Given the description of an element on the screen output the (x, y) to click on. 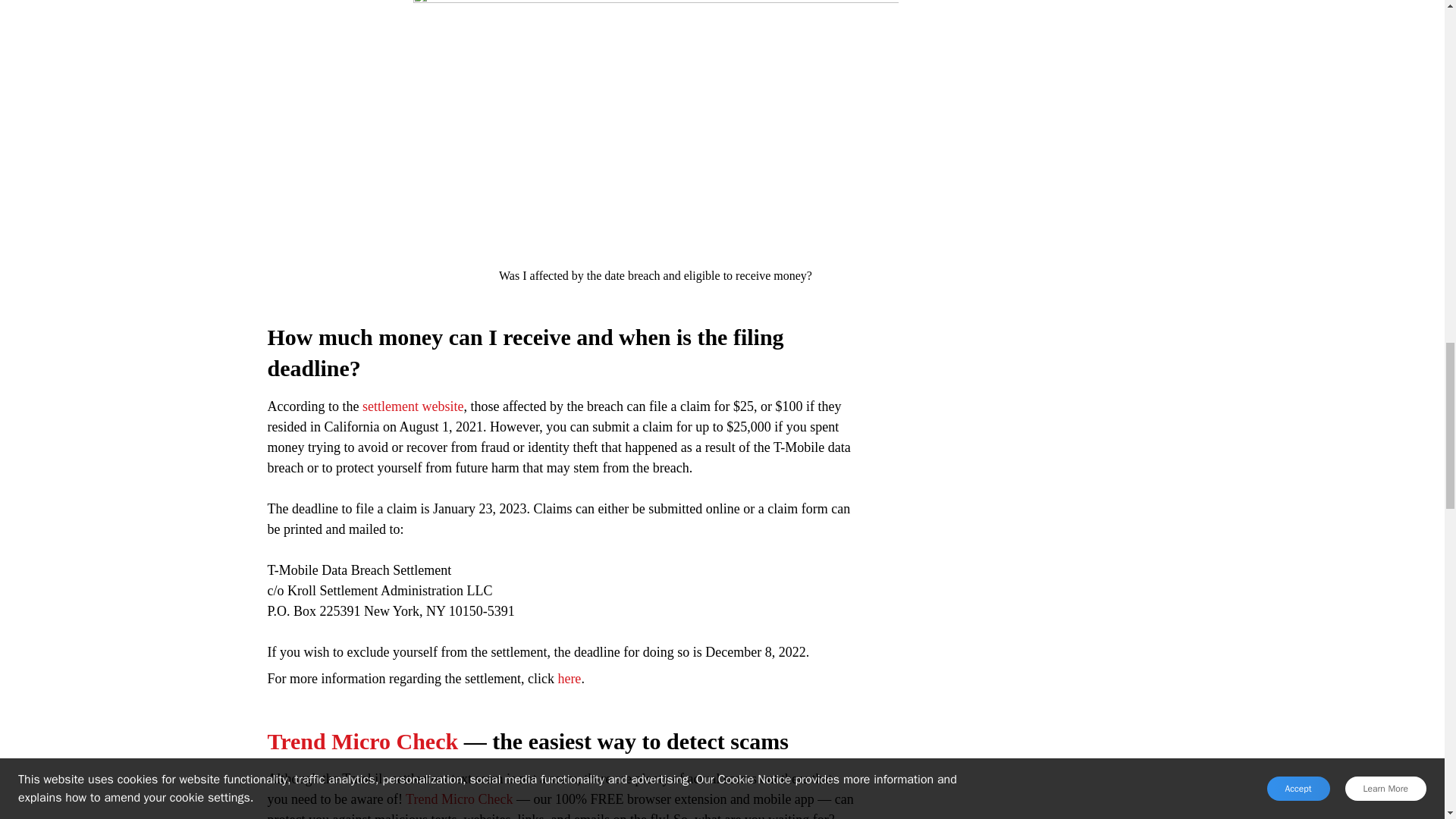
Trend Micro Check (362, 740)
Trend Micro Check (459, 798)
here (568, 678)
settlement website (412, 406)
